Given the description of an element on the screen output the (x, y) to click on. 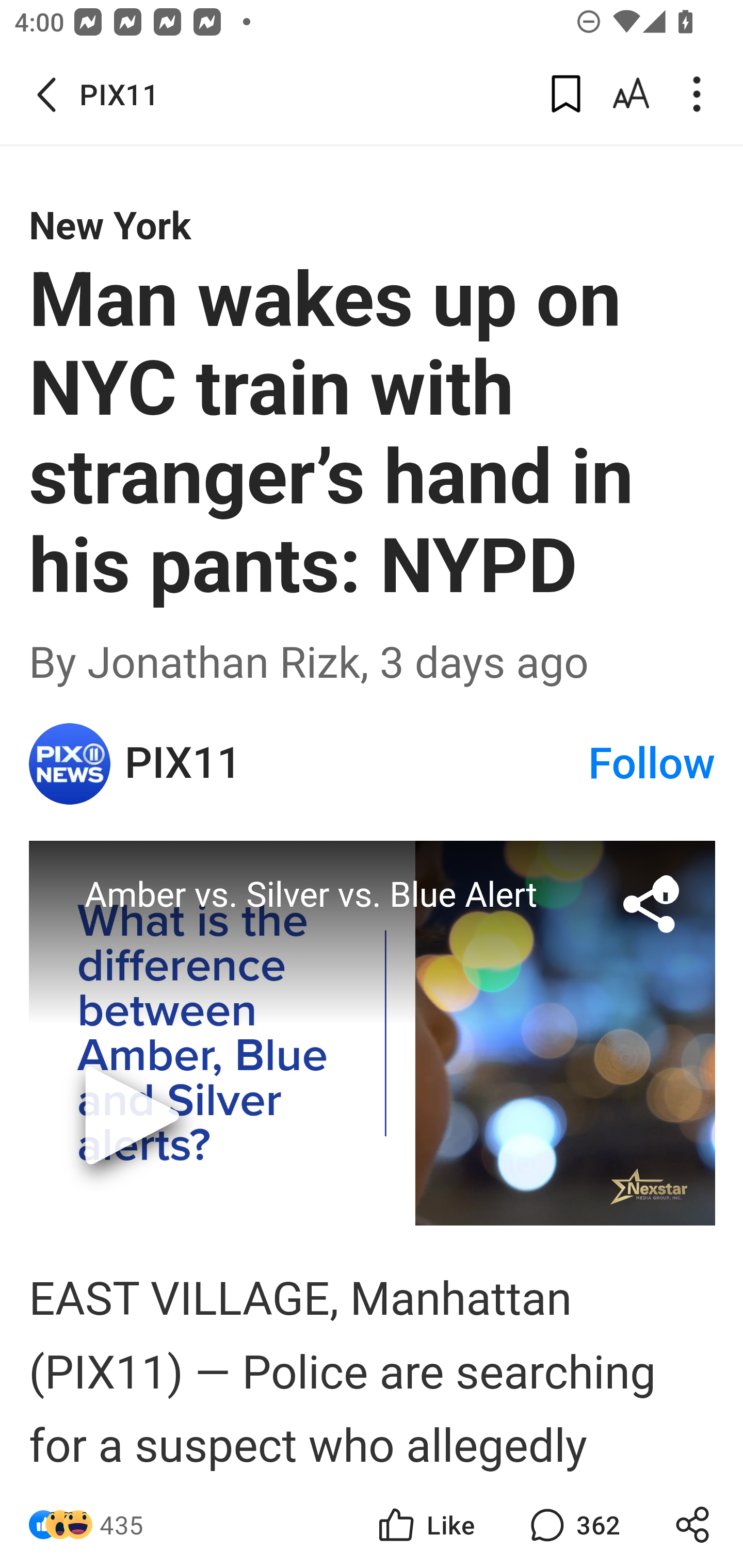
PIX11 (70, 763)
PIX11 (355, 763)
Follow (651, 763)
Amber vs. Silver vs. Blue Alert (372, 1033)
435 (121, 1524)
Like (425, 1524)
362 (572, 1524)
